Given the description of an element on the screen output the (x, y) to click on. 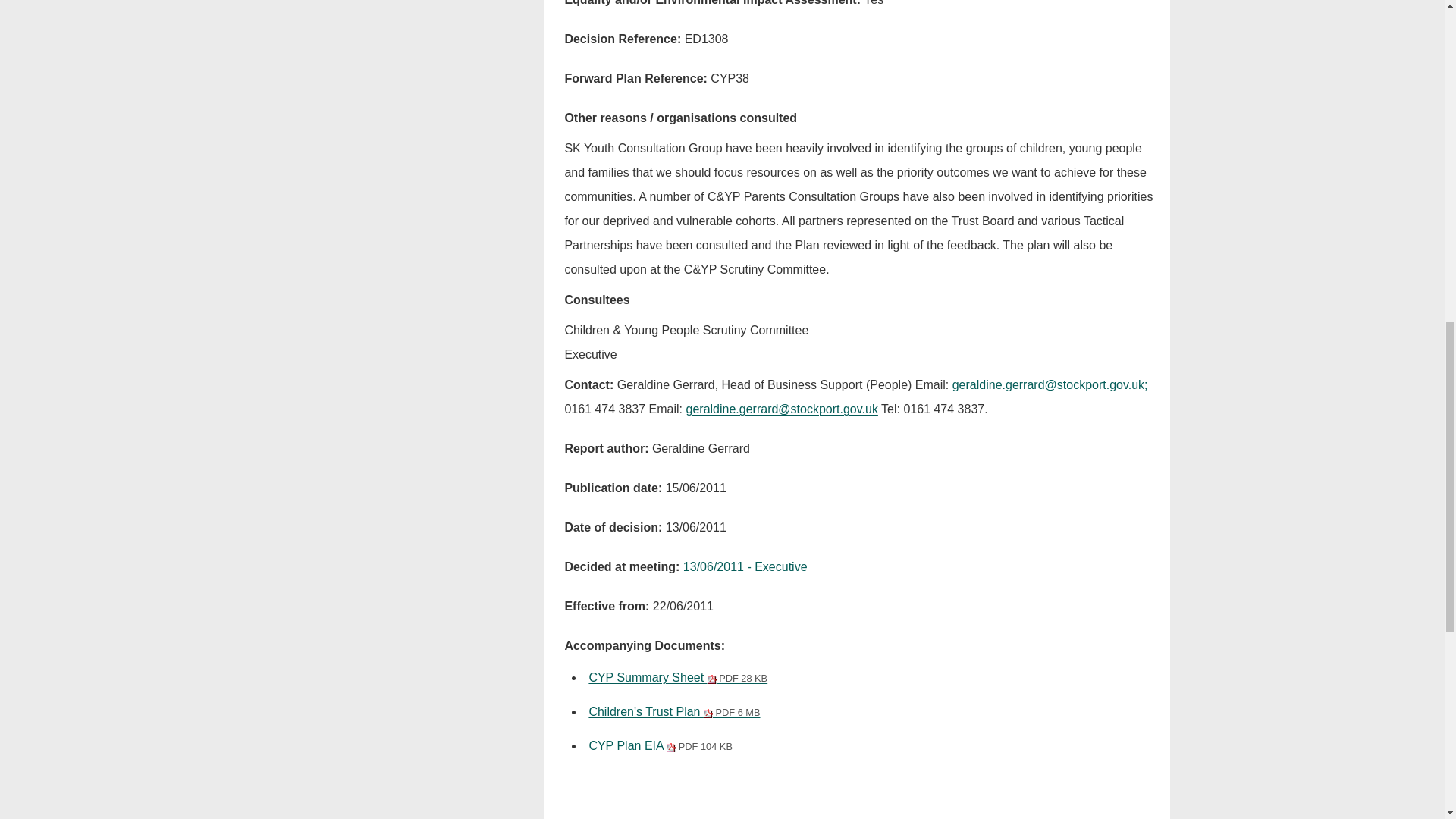
Children's Trust Plan PDF 6 MB (674, 711)
CYP Summary Sheet PDF 28 KB (677, 676)
Link to file CYP Plan EIA (660, 745)
Link to file Children's Trust Plan (674, 711)
Link to file CYP Summary Sheet (677, 676)
CYP Plan EIA PDF 104 KB (660, 745)
